Given the description of an element on the screen output the (x, y) to click on. 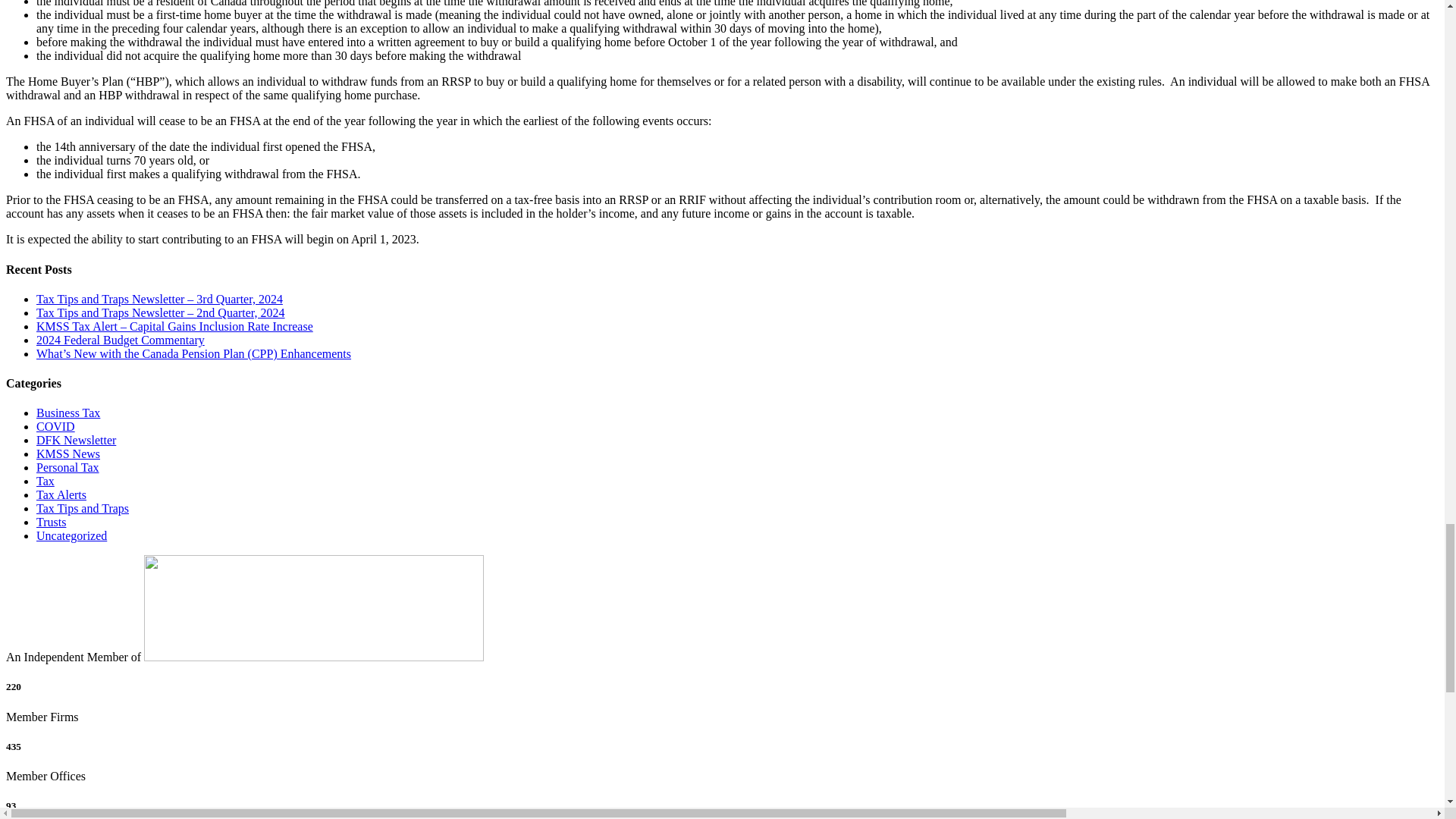
Tax Tips and Traps (82, 508)
Trusts (50, 521)
Tax Alerts (60, 494)
DFK Newsletter (76, 440)
COVID (55, 426)
Tax (45, 481)
Personal Tax (67, 467)
2024 Federal Budget Commentary (120, 339)
Uncategorized (71, 535)
Business Tax (68, 412)
